Given the description of an element on the screen output the (x, y) to click on. 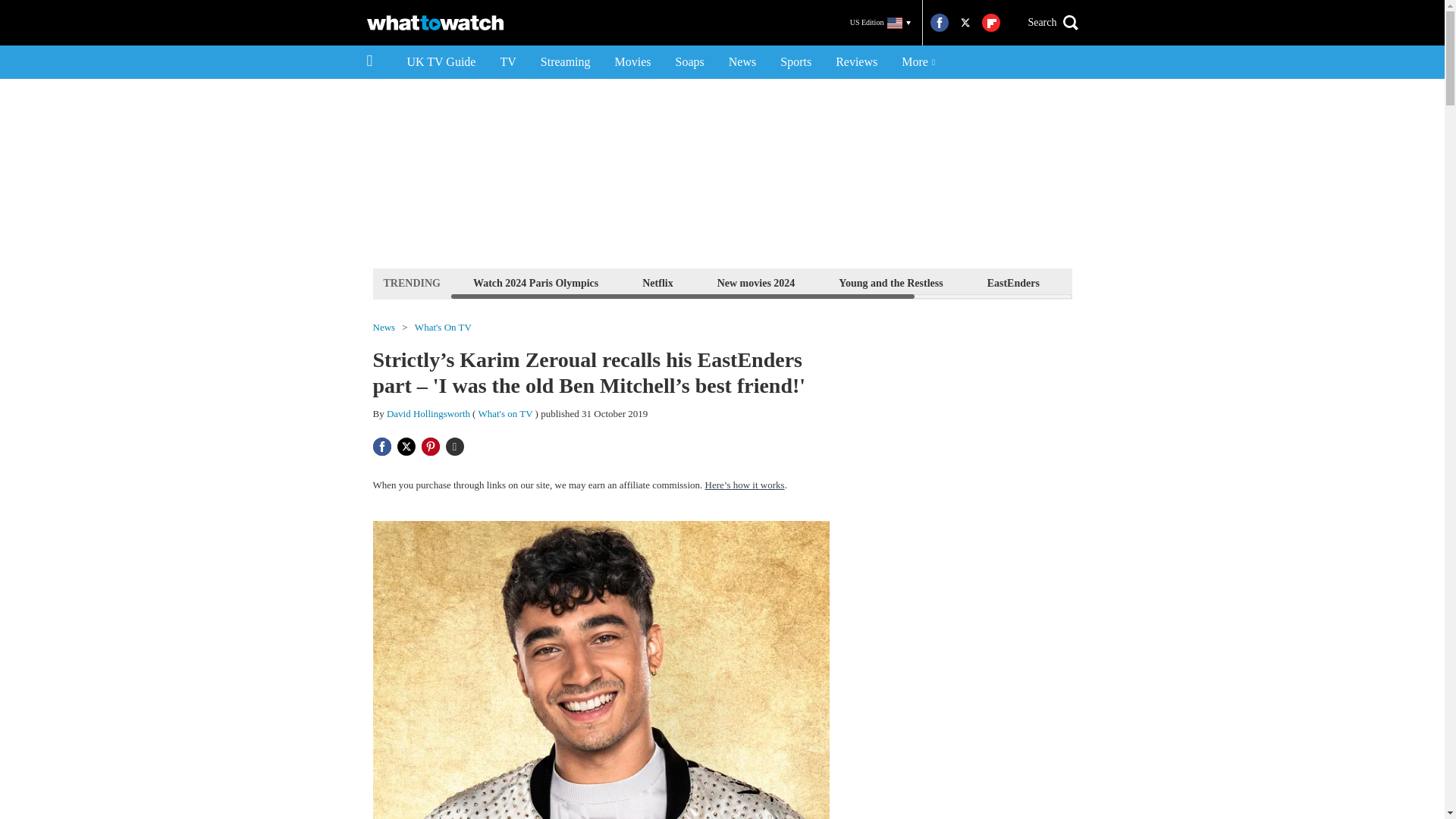
Streaming (565, 61)
Emmerdale (1109, 282)
US Edition (880, 22)
New movies 2024 (755, 282)
UK TV Guide (440, 61)
Watch 2024 Paris Olympics (535, 282)
Young and the Restless (889, 282)
Coronation Street (1220, 282)
News (742, 61)
Reviews (856, 61)
